Given the description of an element on the screen output the (x, y) to click on. 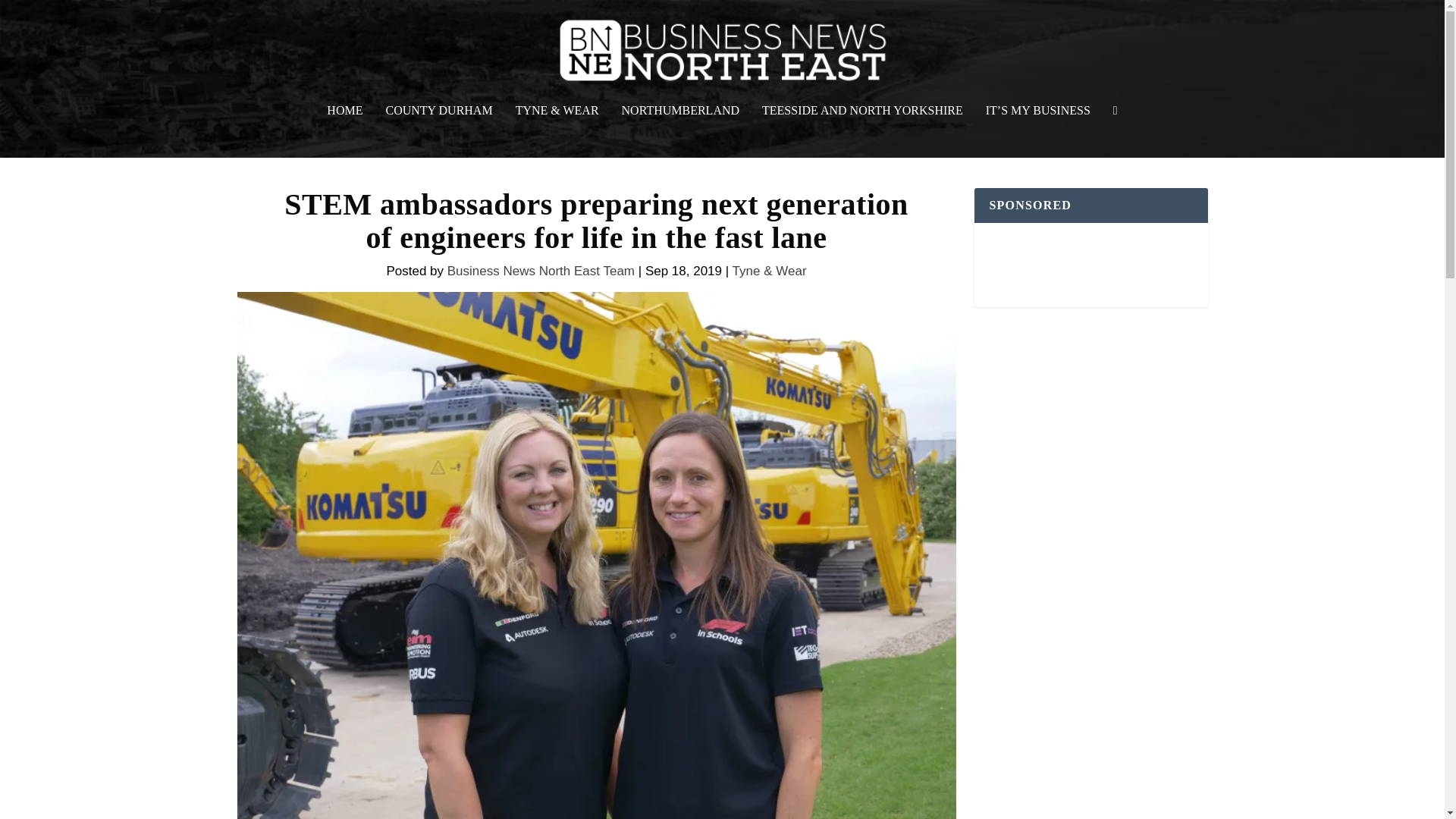
TEESSIDE AND NORTH YORKSHIRE (861, 131)
COUNTY DURHAM (438, 131)
Business News North East Team (540, 270)
NORTHUMBERLAND (680, 131)
Posts by Business News North East Team (540, 270)
